Given the description of an element on the screen output the (x, y) to click on. 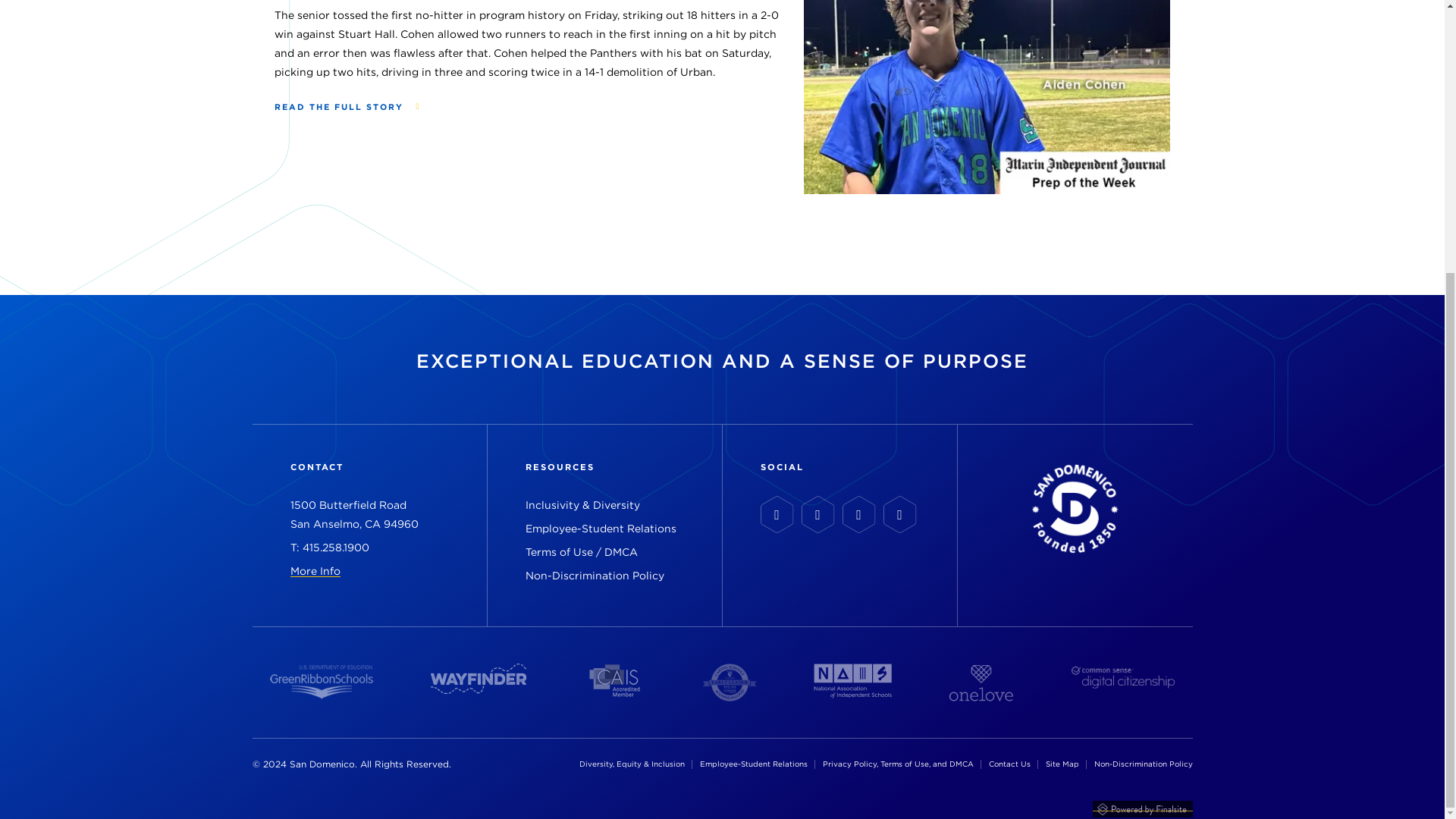
Powered by Finalsite opens in a new window (1142, 805)
